Given the description of an element on the screen output the (x, y) to click on. 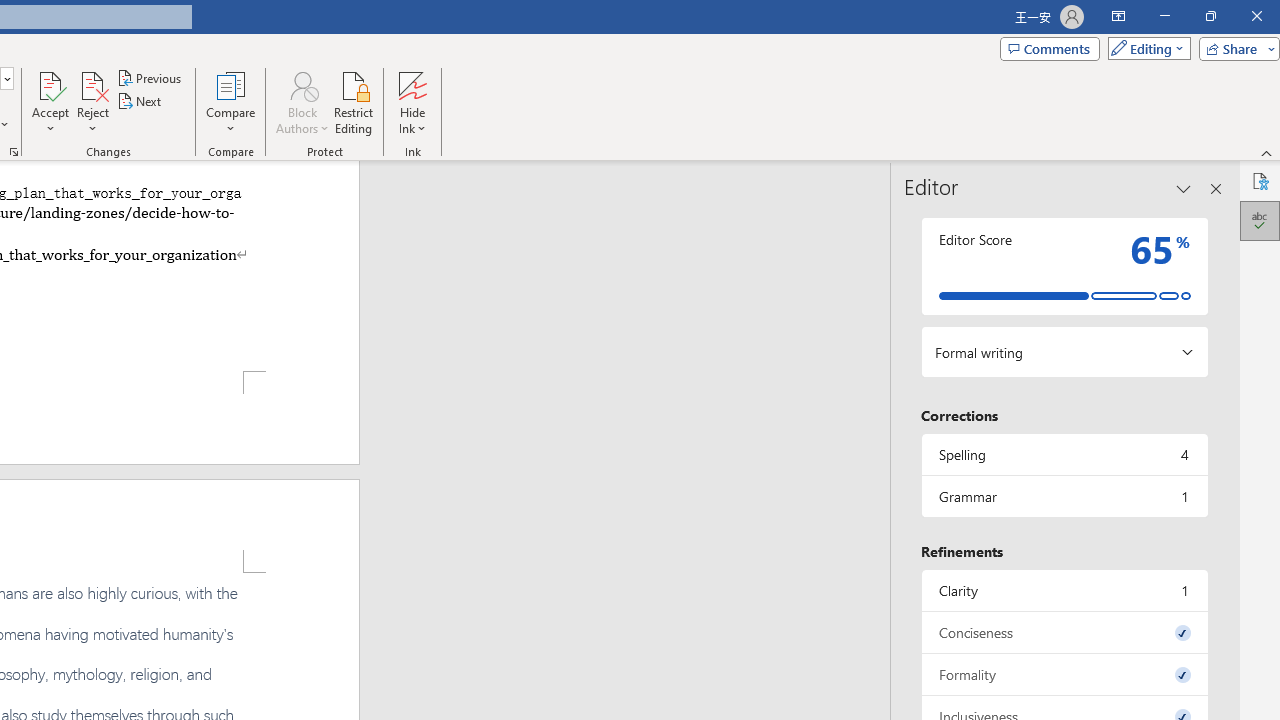
Block Authors (302, 102)
Next (140, 101)
Block Authors (302, 84)
